Given the description of an element on the screen output the (x, y) to click on. 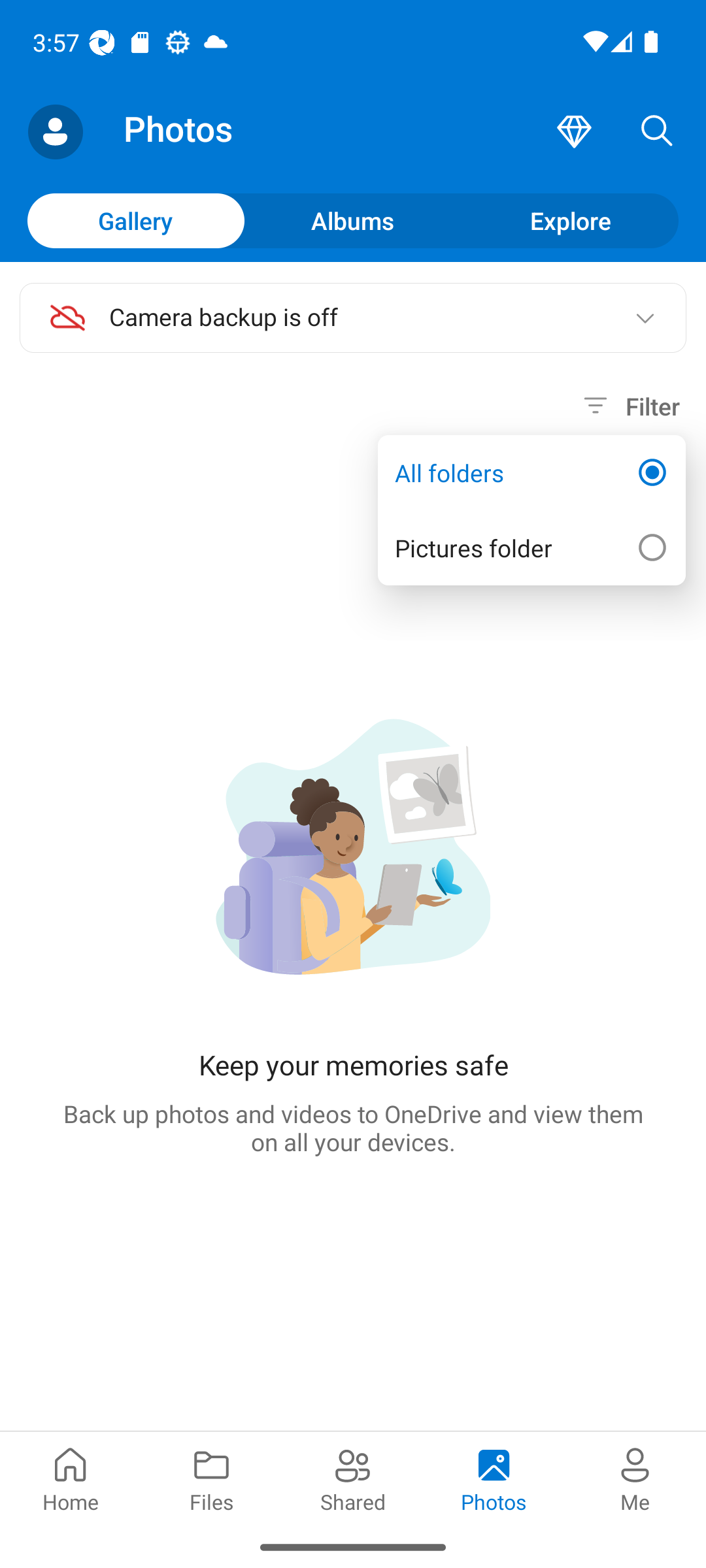
All folders (531, 472)
Pictures folder (531, 546)
